Given the description of an element on the screen output the (x, y) to click on. 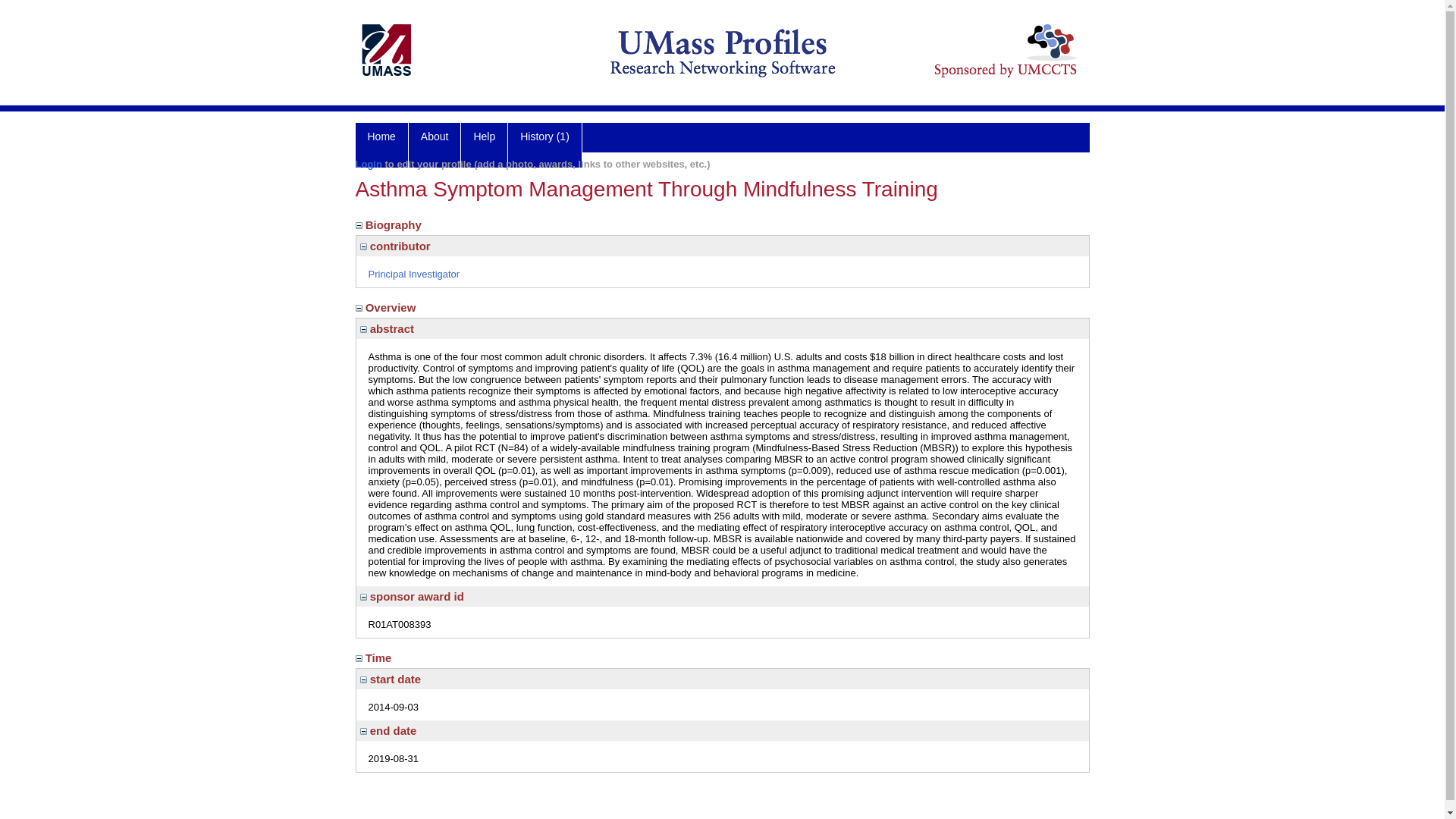
Home (381, 144)
Principal Investigator (414, 274)
Help (484, 144)
Login (368, 163)
About (435, 144)
